Given the description of an element on the screen output the (x, y) to click on. 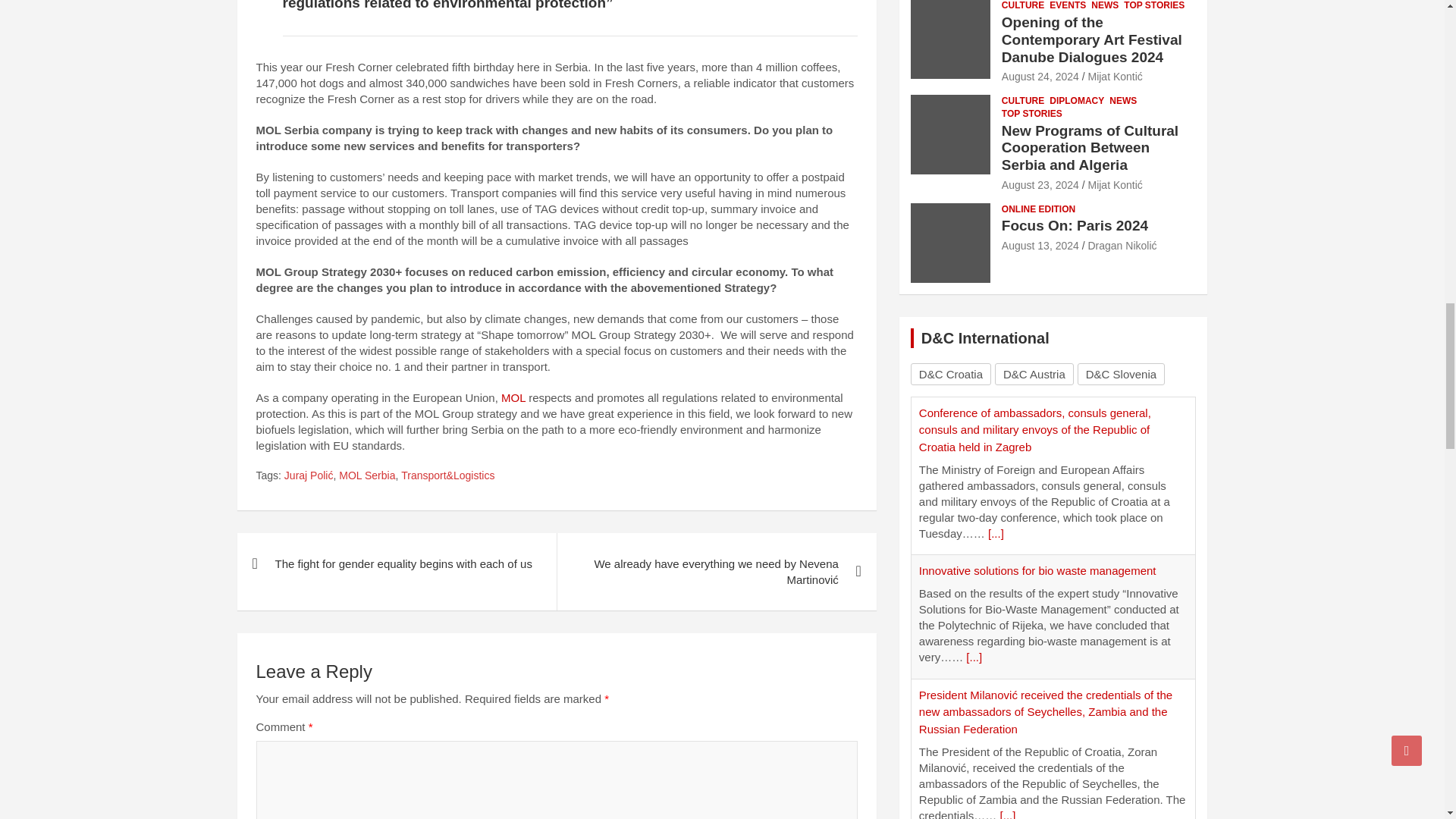
Focus On: Paris 2024 (1039, 245)
Read more (973, 656)
Read more (996, 533)
Innovative solutions for bio waste management (1037, 570)
